Given the description of an element on the screen output the (x, y) to click on. 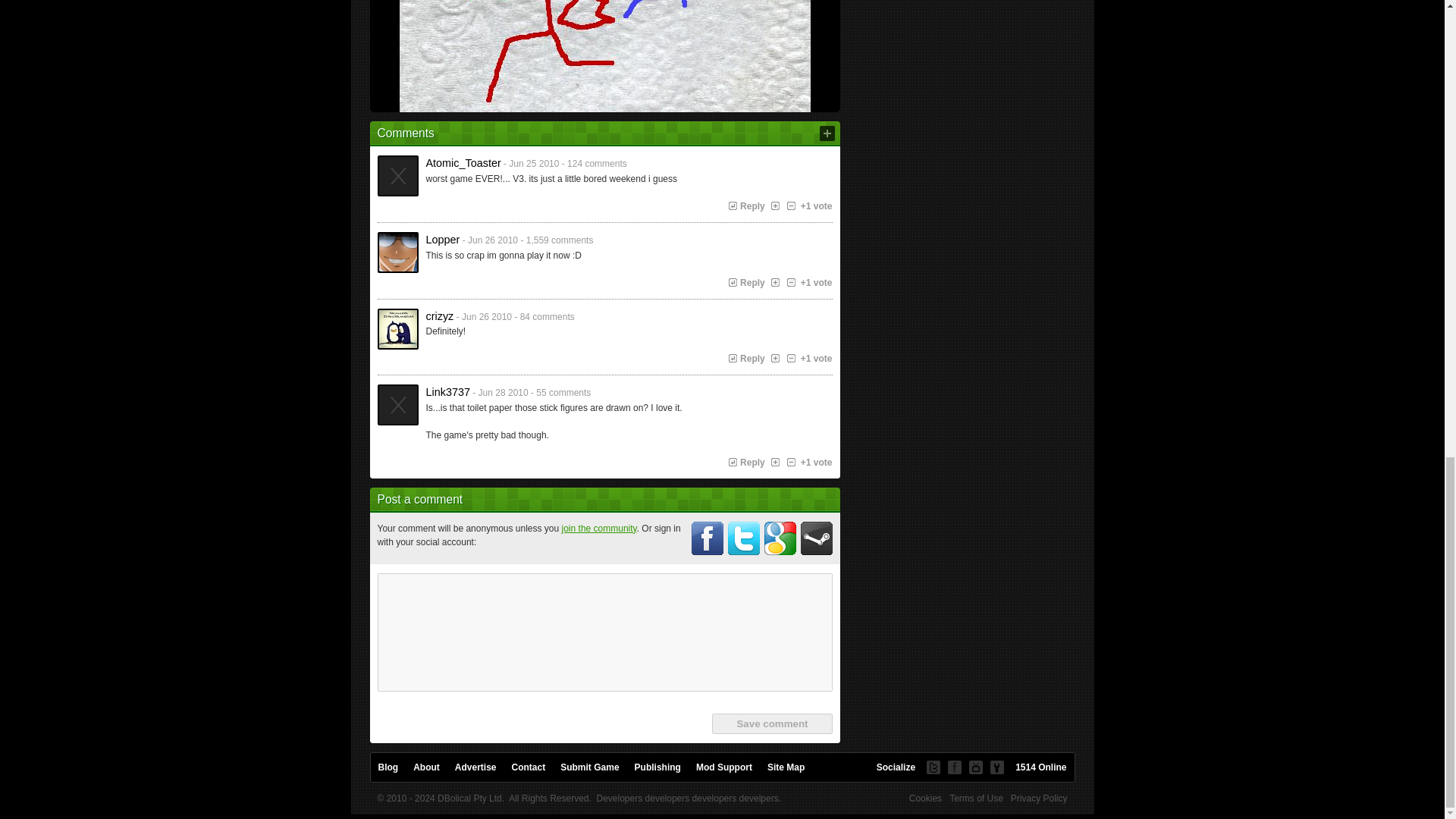
Save comment (771, 723)
